Given the description of an element on the screen output the (x, y) to click on. 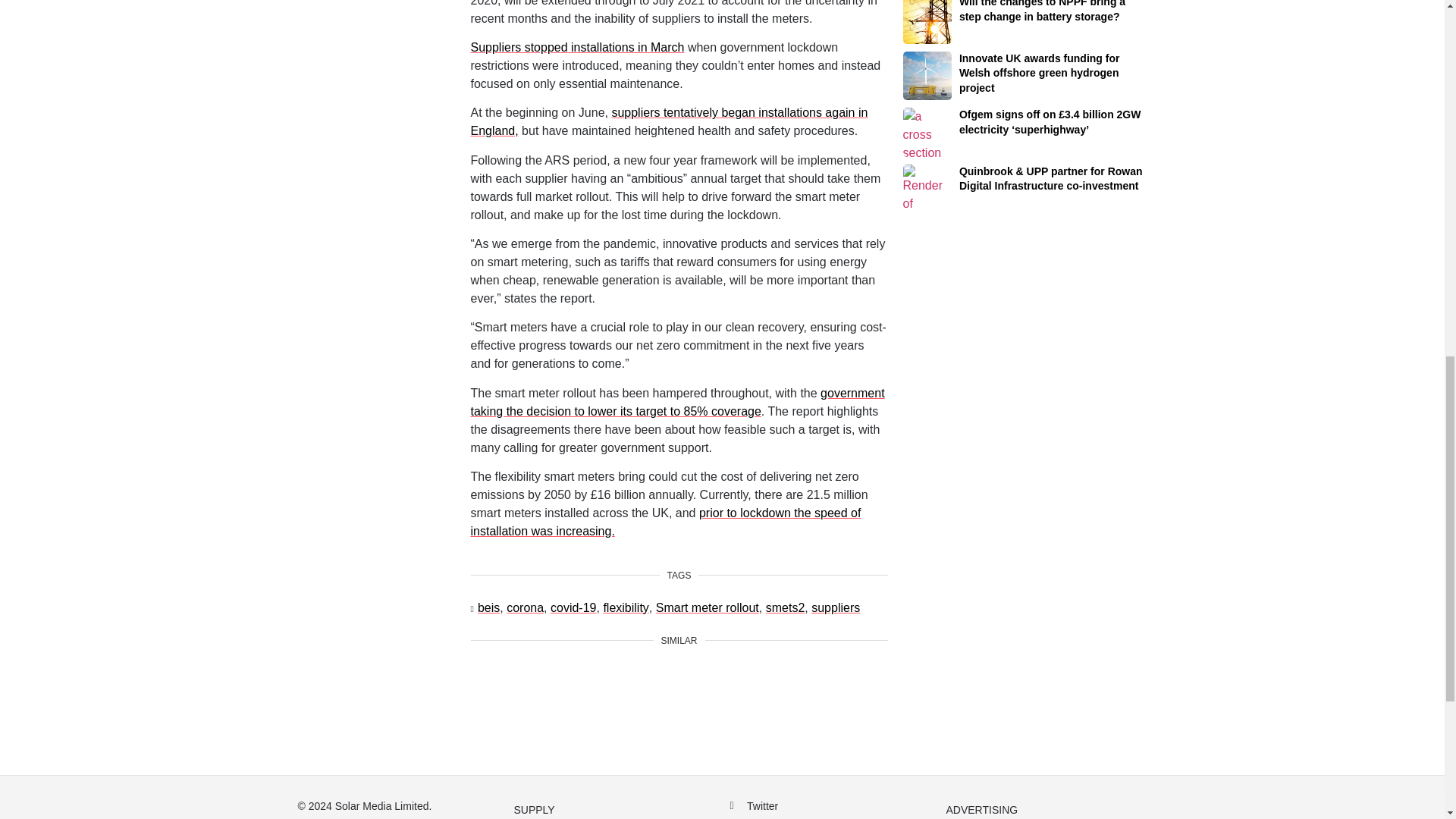
Suppliers stopped installations in March (577, 47)
prior to lockdown the speed of installation was increasing. (665, 521)
suppliers tentatively began installations again in England, (668, 121)
